Given the description of an element on the screen output the (x, y) to click on. 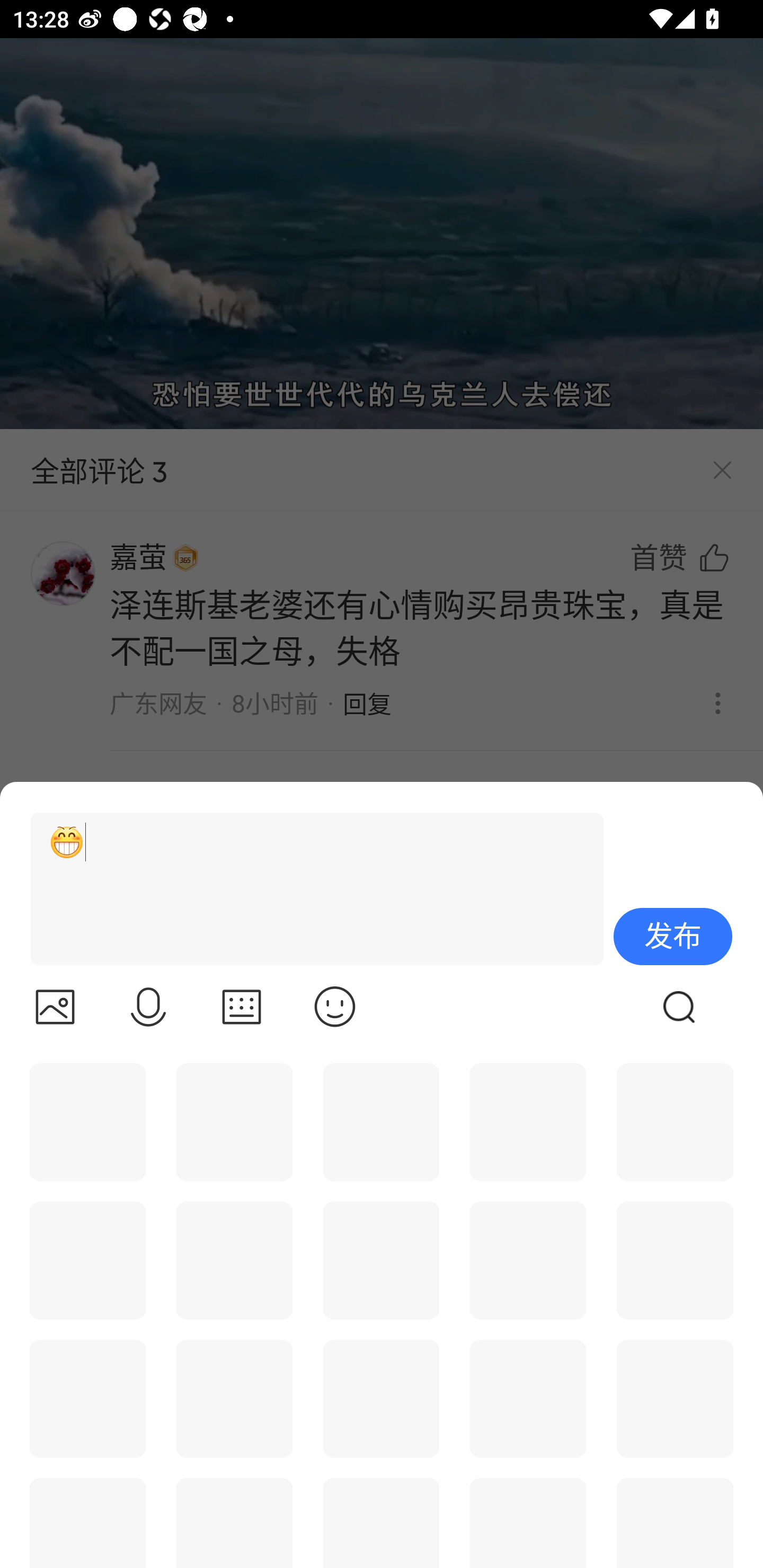
[呲牙] (308, 888)
发布 (672, 936)
 (54, 1007)
 (148, 1007)
 (241, 1007)
 (334, 1007)
搜索gif图片 (679, 1006)
